Given the description of an element on the screen output the (x, y) to click on. 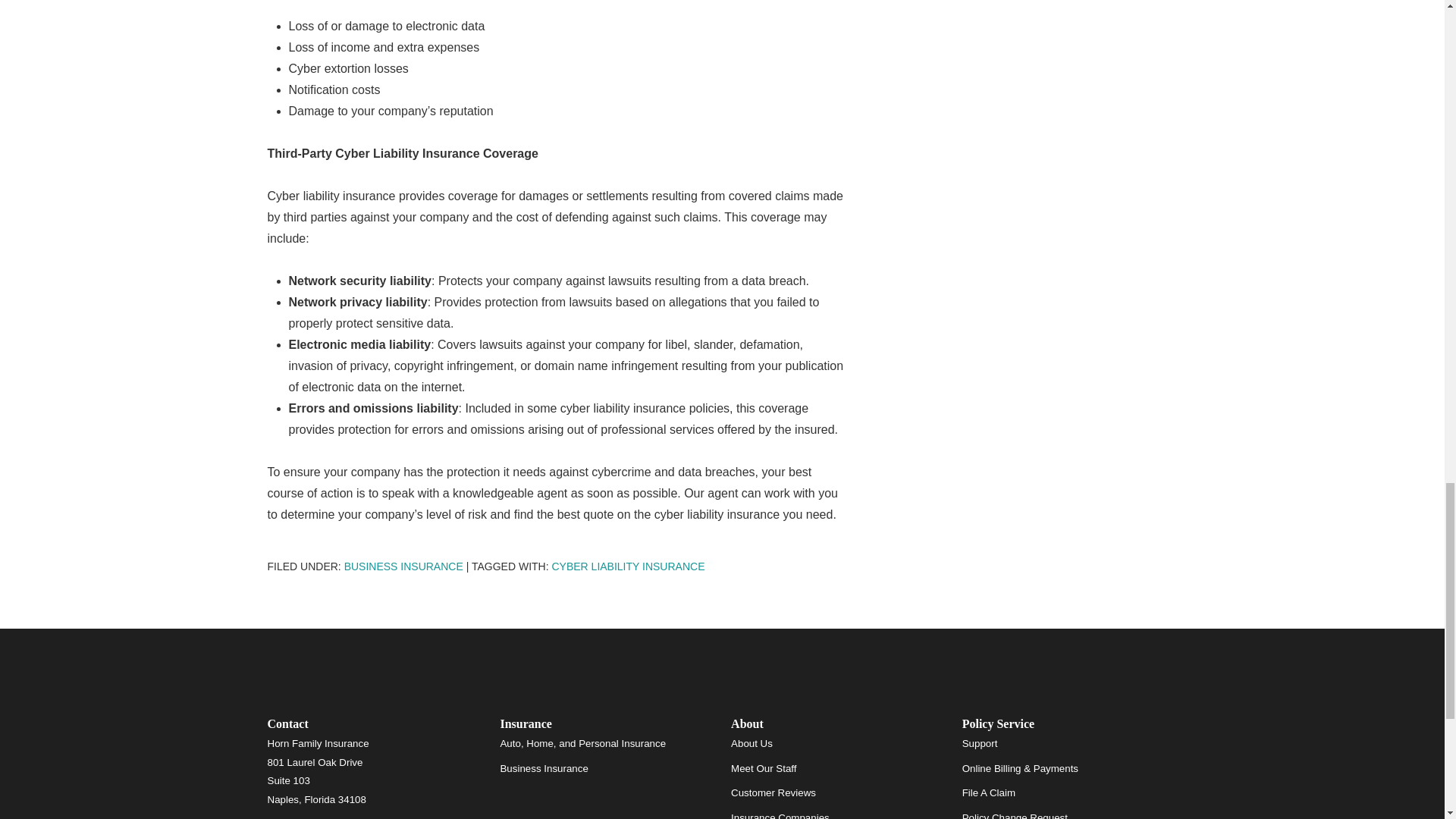
Business Insurance (403, 566)
Cyber Liability Insurance (627, 566)
